Given the description of an element on the screen output the (x, y) to click on. 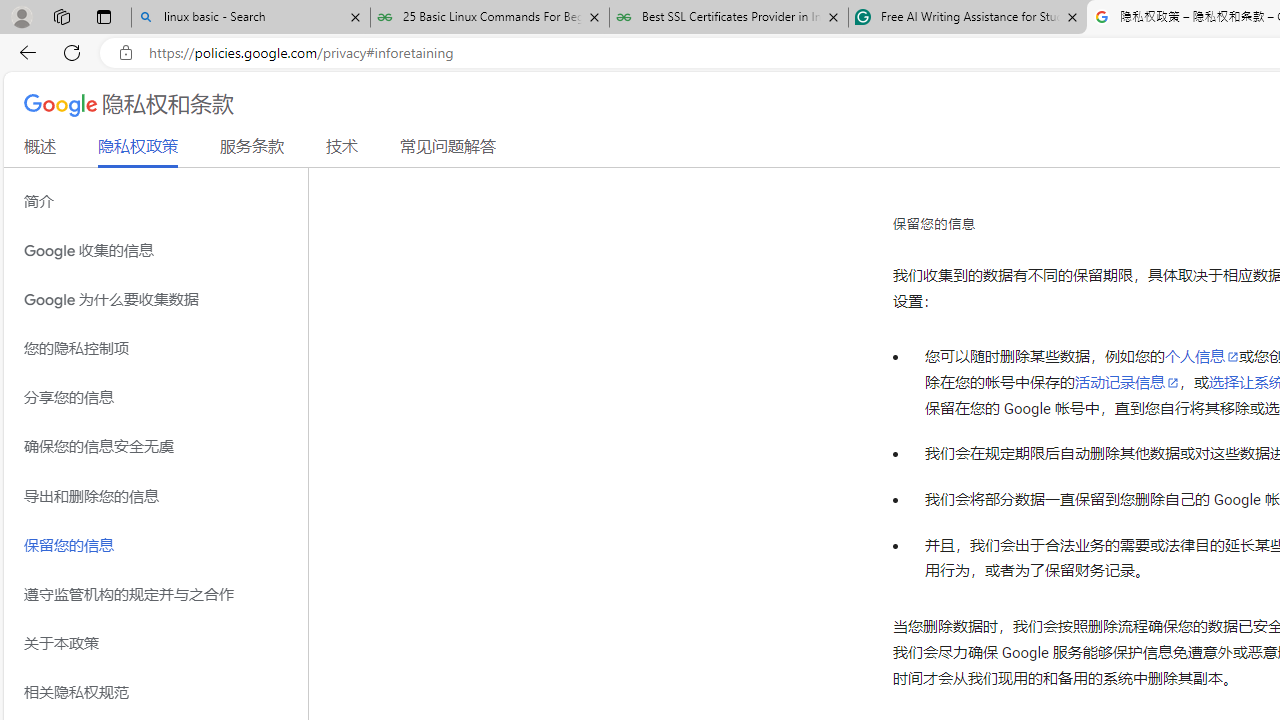
linux basic - Search (250, 17)
